Given the description of an element on the screen output the (x, y) to click on. 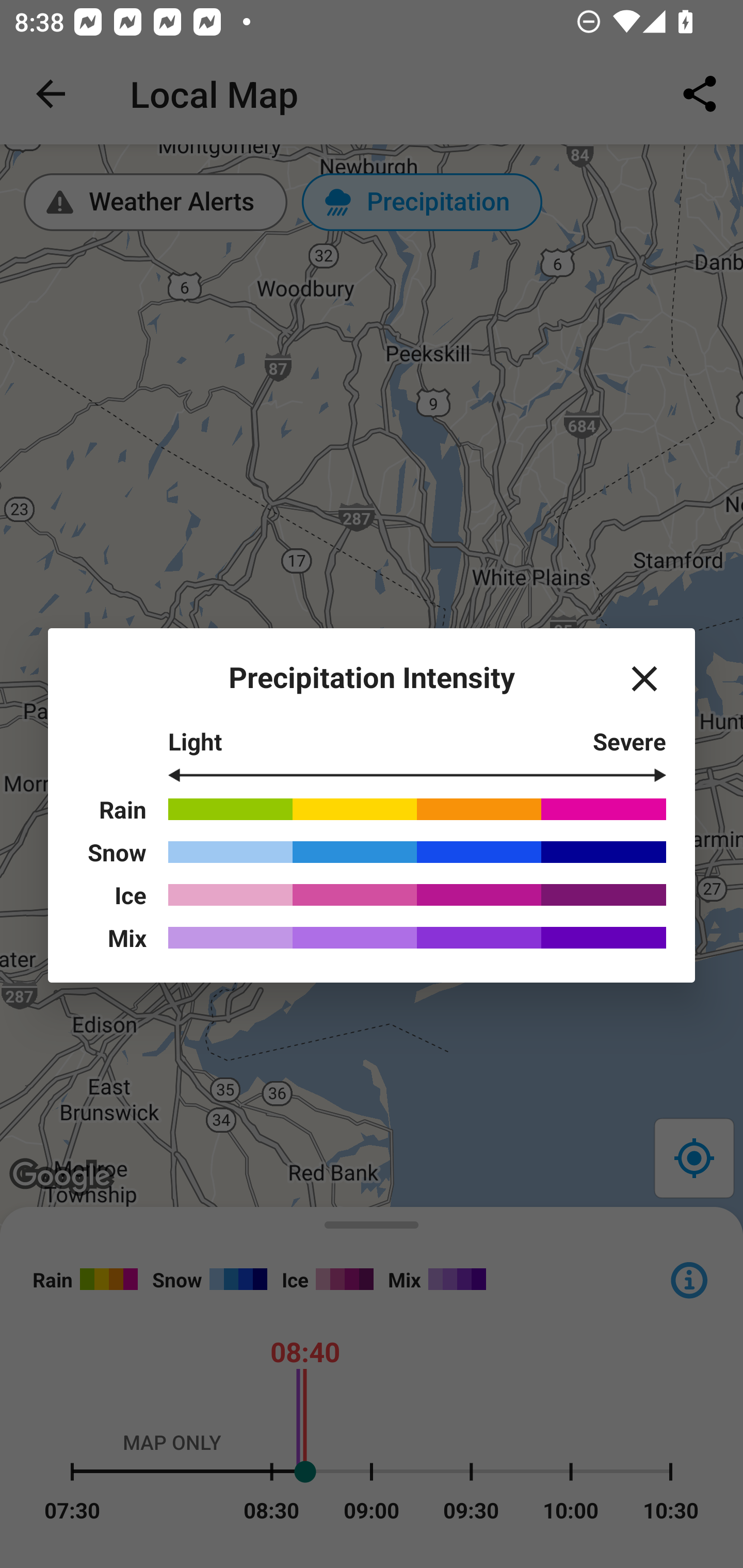
Close button (644, 678)
